Given the description of an element on the screen output the (x, y) to click on. 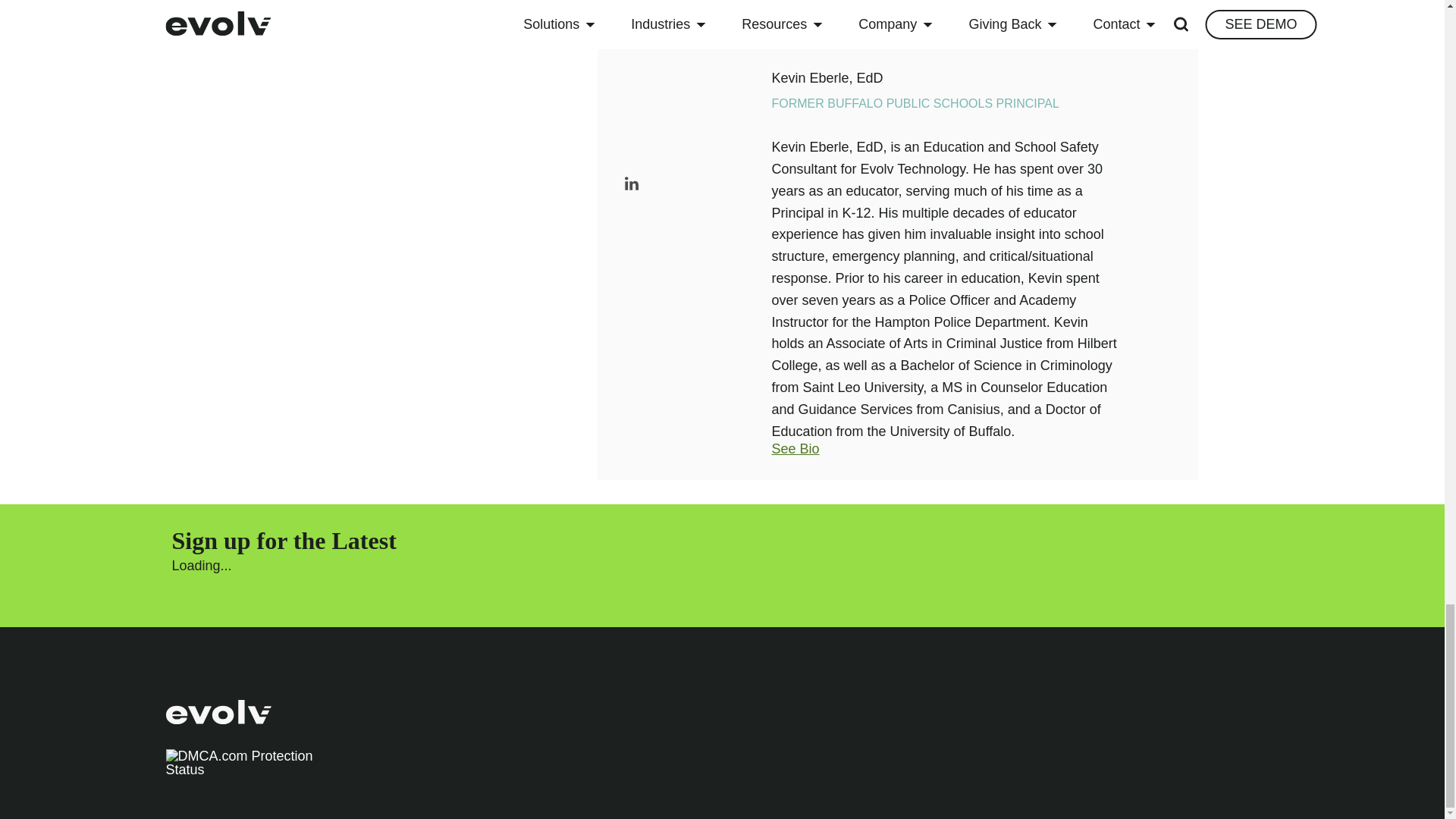
DMCA.com Protection Status (240, 769)
